Given the description of an element on the screen output the (x, y) to click on. 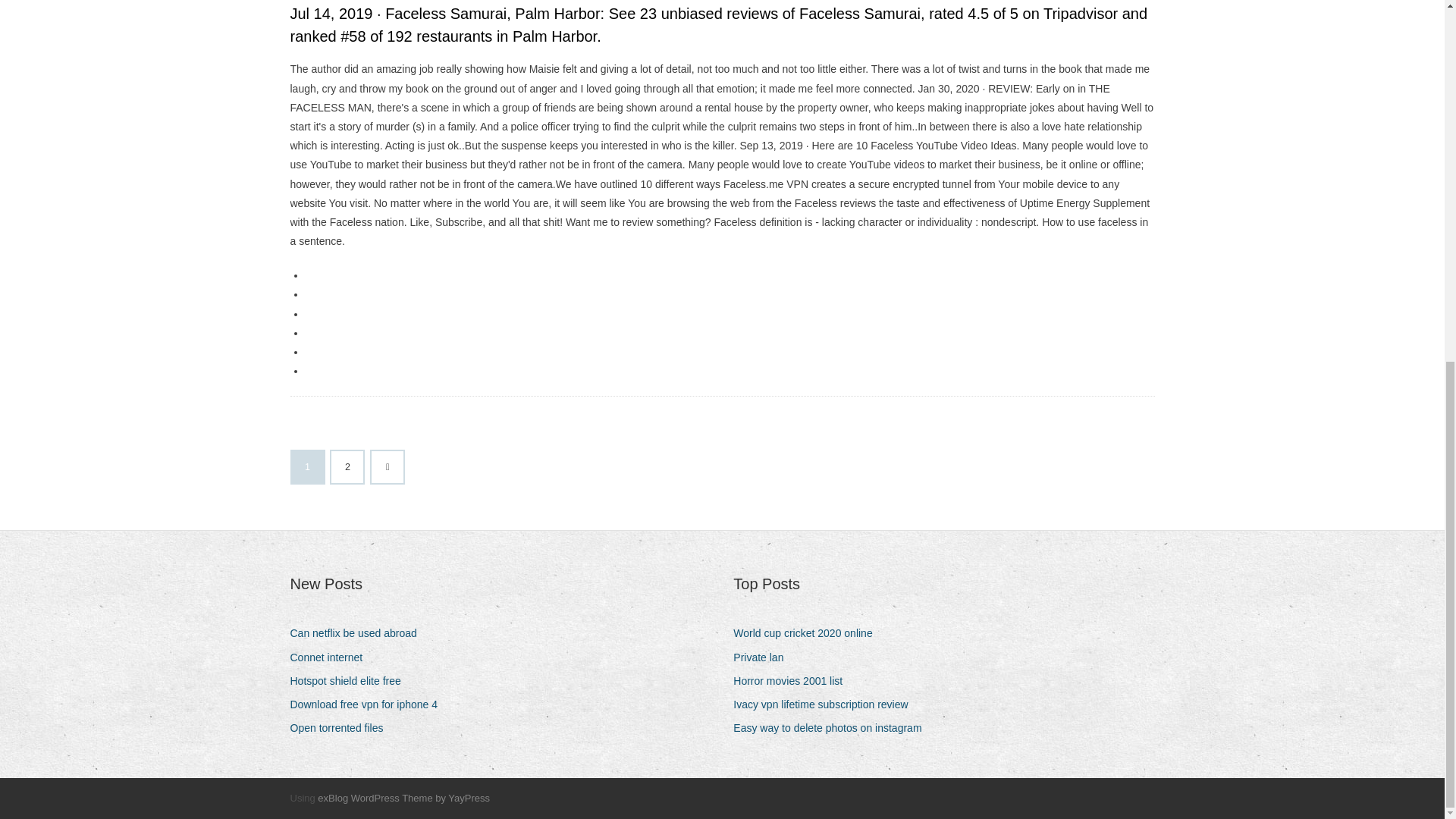
2 (346, 467)
Ivacy vpn lifetime subscription review (825, 704)
Open torrented files (341, 728)
Private lan (763, 657)
Download free vpn for iphone 4 (368, 704)
Can netflix be used abroad (358, 633)
World cup cricket 2020 online (808, 633)
Hotspot shield elite free (350, 680)
Horror movies 2001 list (793, 680)
Easy way to delete photos on instagram (833, 728)
exBlog WordPress Theme by YayPress (403, 797)
Connet internet (331, 657)
